Given the description of an element on the screen output the (x, y) to click on. 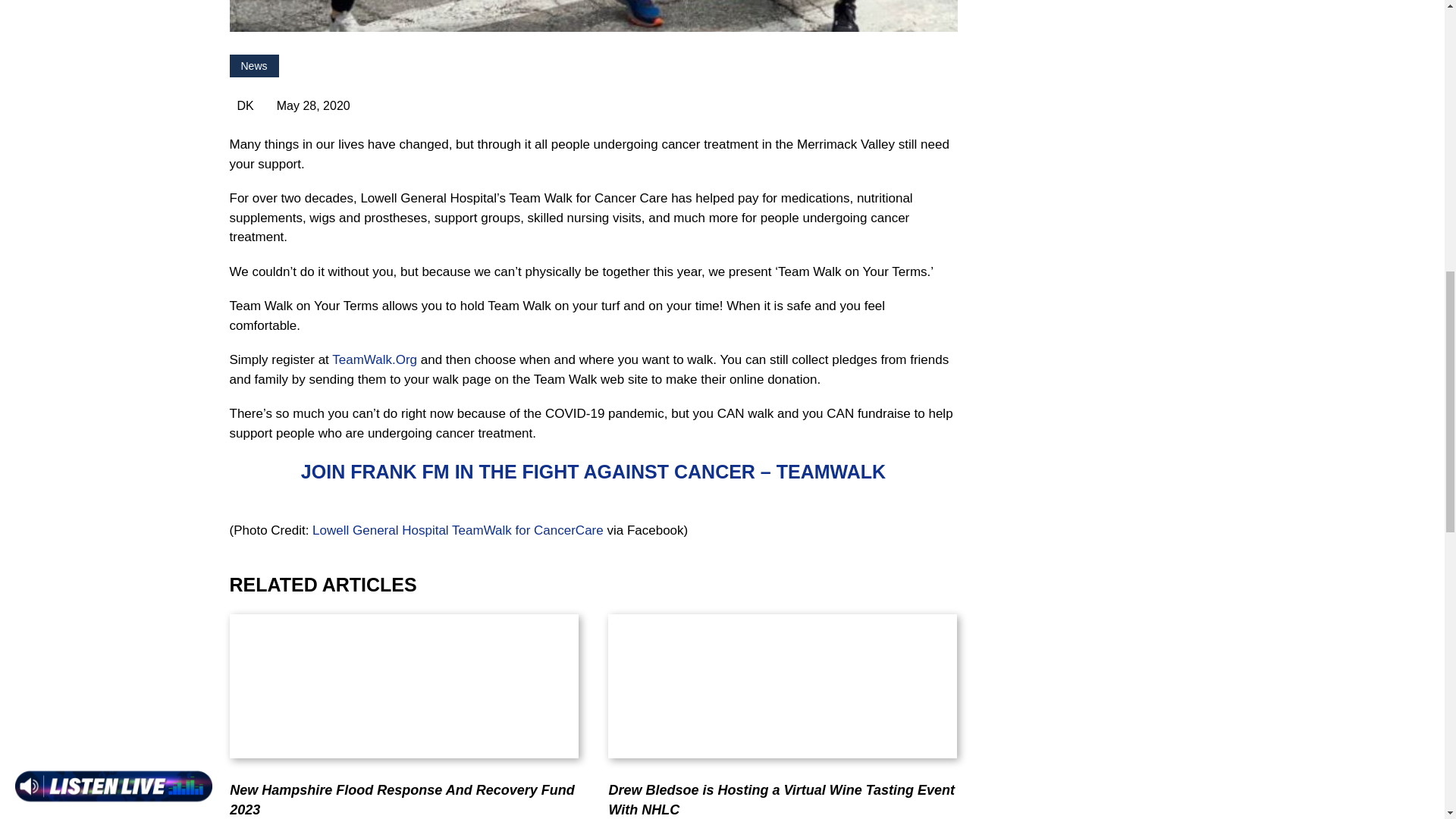
New Hampshire Flood Response And Recovery Fund 2023 (401, 799)
News (253, 65)
Lowell General Hospital TeamWalk for CancerCare (458, 530)
DK (240, 105)
TeamWalk.Org (373, 359)
